Given the description of an element on the screen output the (x, y) to click on. 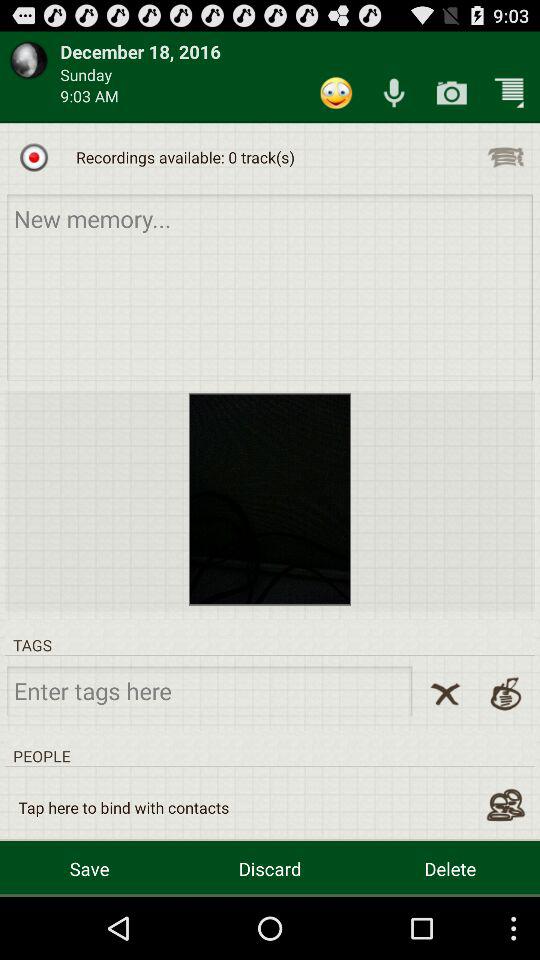
press app below tap here to item (270, 868)
